Given the description of an element on the screen output the (x, y) to click on. 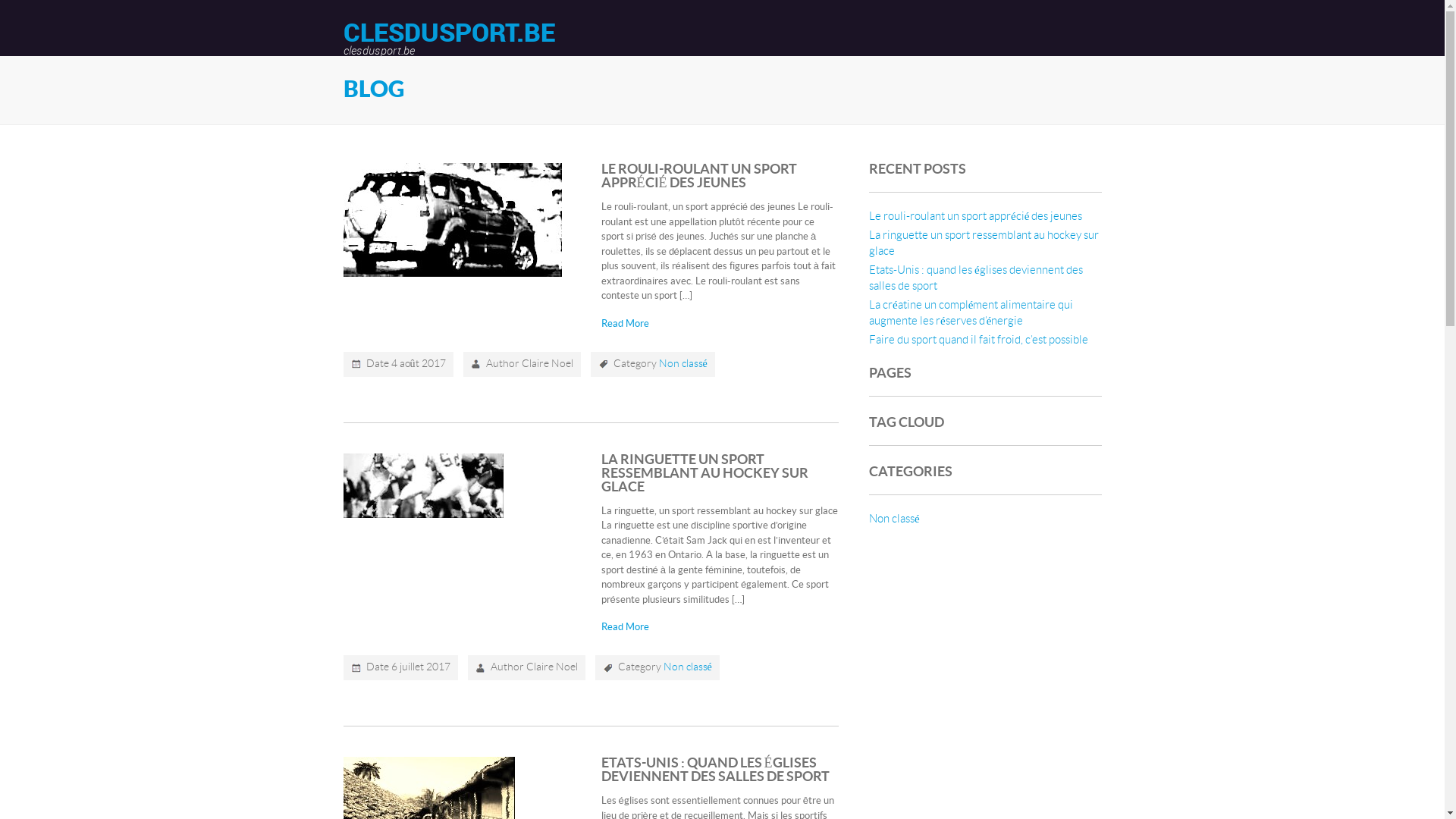
CLESDUSPORT.BE
clesdusport.be Element type: text (448, 37)
LA RINGUETTE UN SPORT RESSEMBLANT AU HOCKEY SUR GLACE Element type: text (704, 472)
Read More Element type: text (625, 323)
La ringuette un sport ressemblant au hockey sur glace Element type: text (983, 243)
Read More Element type: text (625, 626)
